Given the description of an element on the screen output the (x, y) to click on. 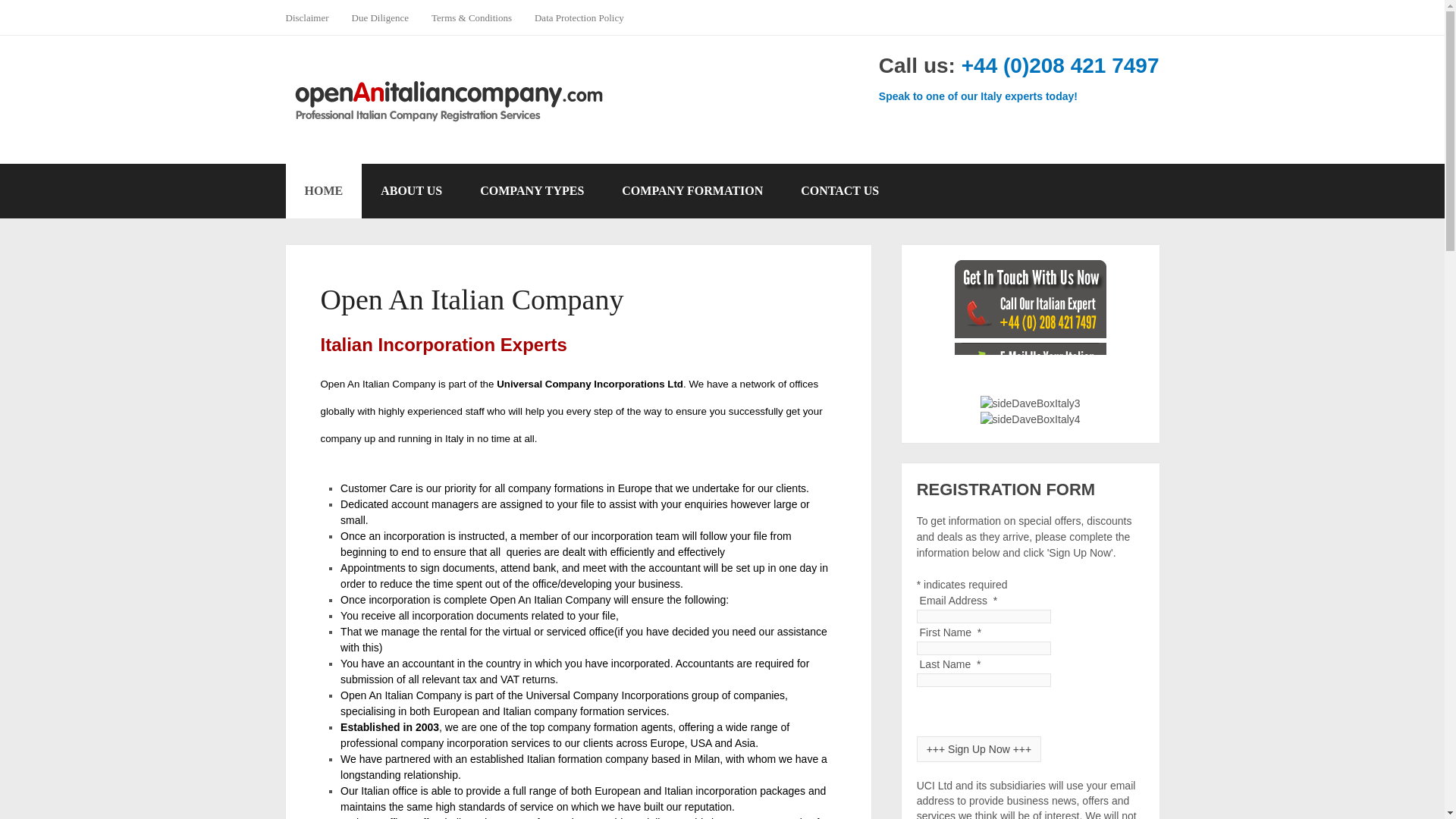
CONTACT US (839, 190)
Speak to one of our Italy experts today! (978, 96)
Disclaimer (312, 17)
HOME (323, 190)
ABOUT US (411, 190)
COMPANY TYPES (531, 190)
COMPANY FORMATION (691, 190)
Data Protection Policy (578, 17)
Due Diligence (380, 17)
Contact Us (978, 96)
